Given the description of an element on the screen output the (x, y) to click on. 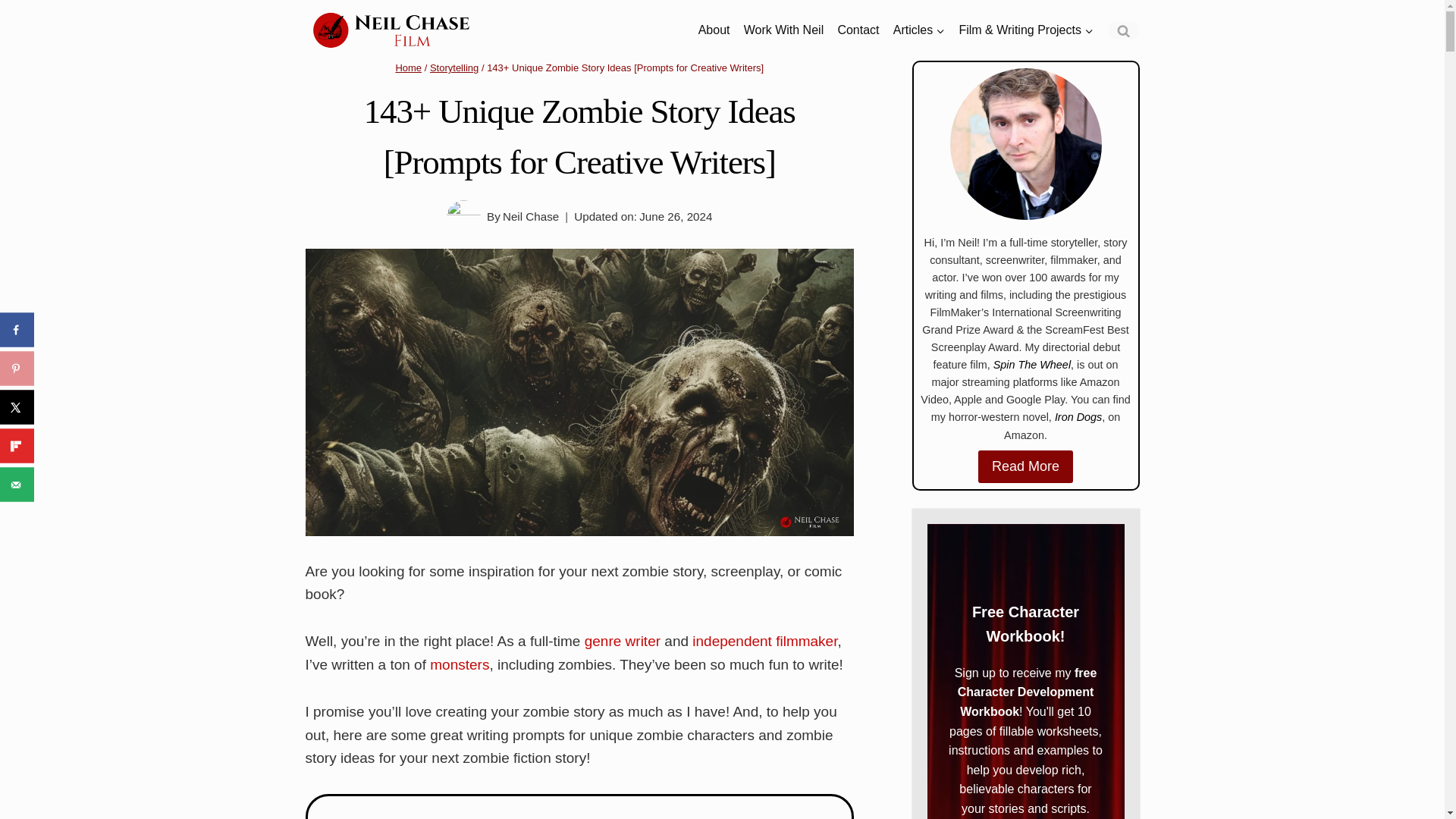
Work With Neil (783, 30)
About (713, 30)
Home (408, 67)
Storytelling (454, 67)
monsters (459, 664)
Neil Chase (530, 215)
Contact (857, 30)
Save to Pinterest (16, 368)
Send over email (16, 483)
Share on Flipboard (16, 446)
